Given the description of an element on the screen output the (x, y) to click on. 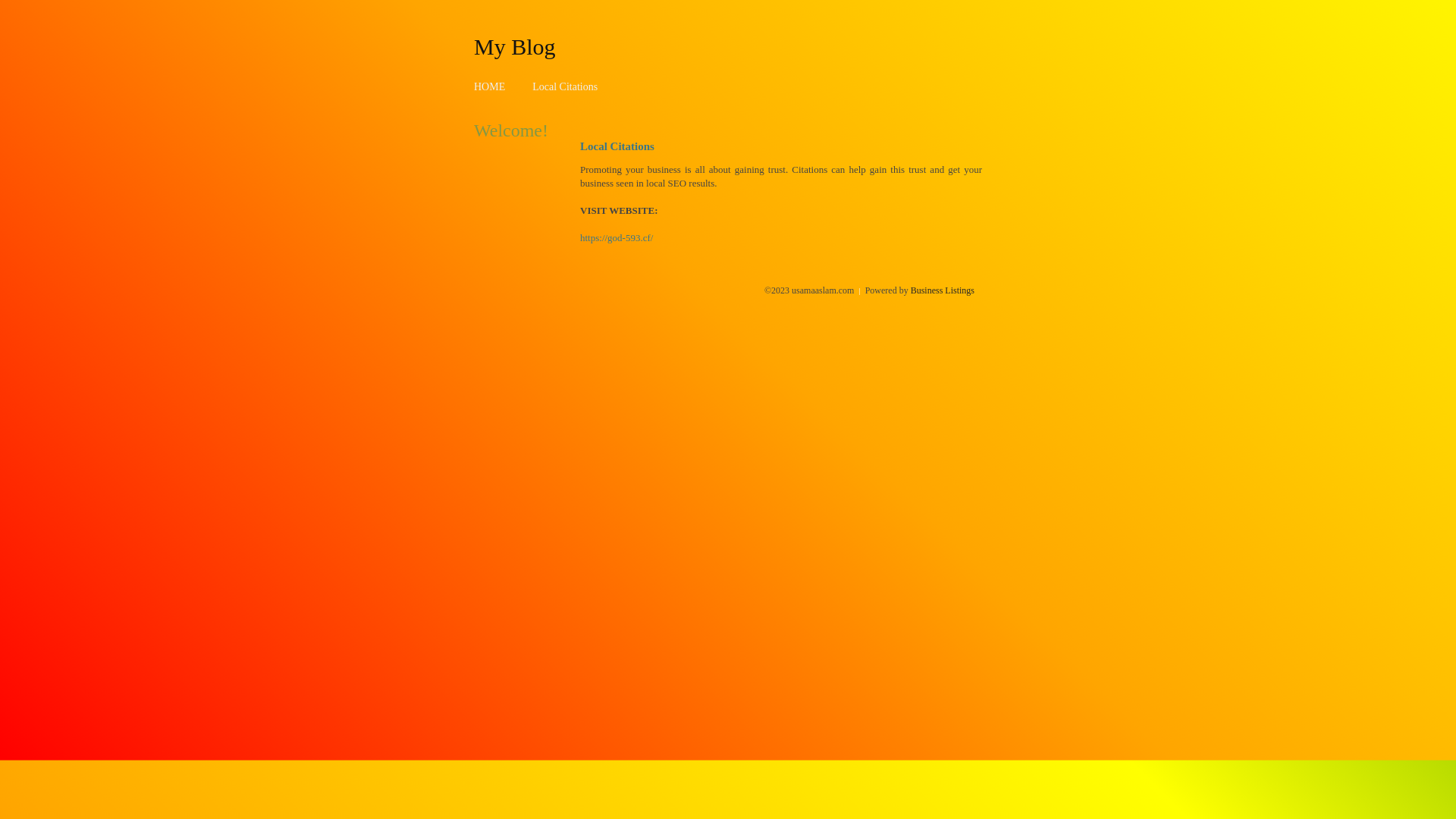
Local Citations Element type: text (564, 86)
My Blog Element type: text (514, 46)
Business Listings Element type: text (942, 290)
HOME Element type: text (489, 86)
https://god-593.cf/ Element type: text (616, 237)
